Given the description of an element on the screen output the (x, y) to click on. 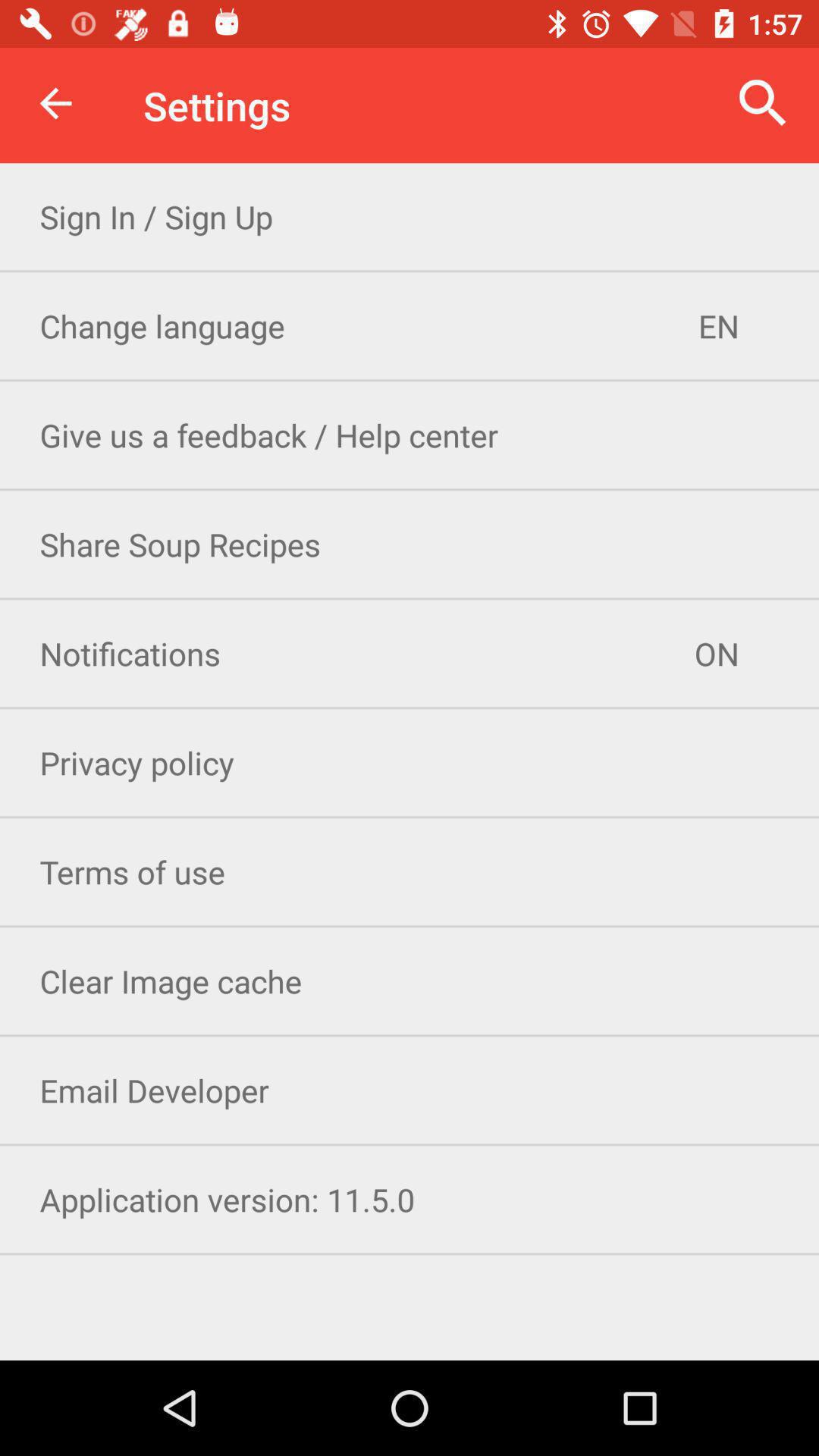
launch the share soup recipes (409, 543)
